Given the description of an element on the screen output the (x, y) to click on. 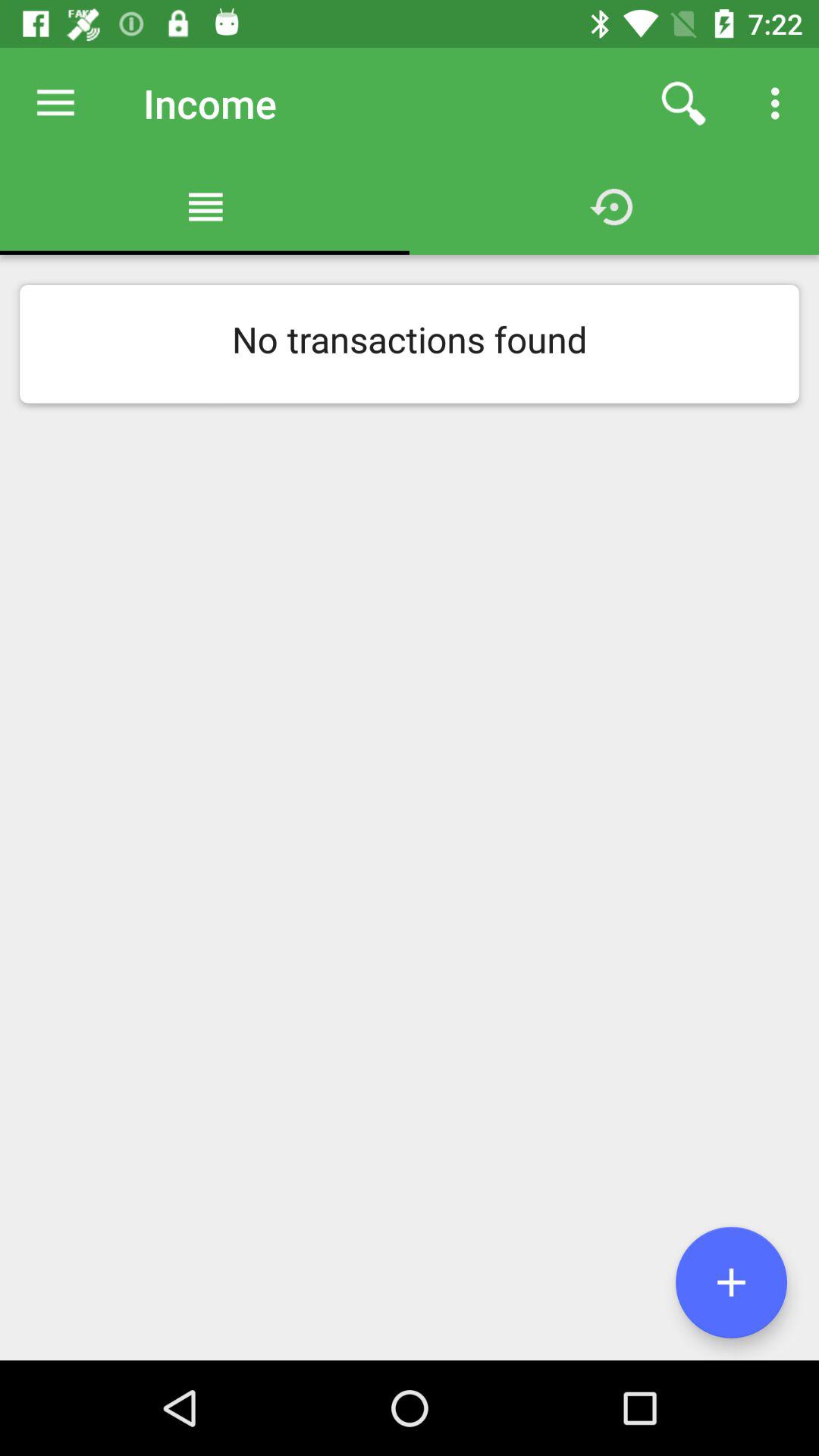
turn off icon to the right of income (683, 103)
